Given the description of an element on the screen output the (x, y) to click on. 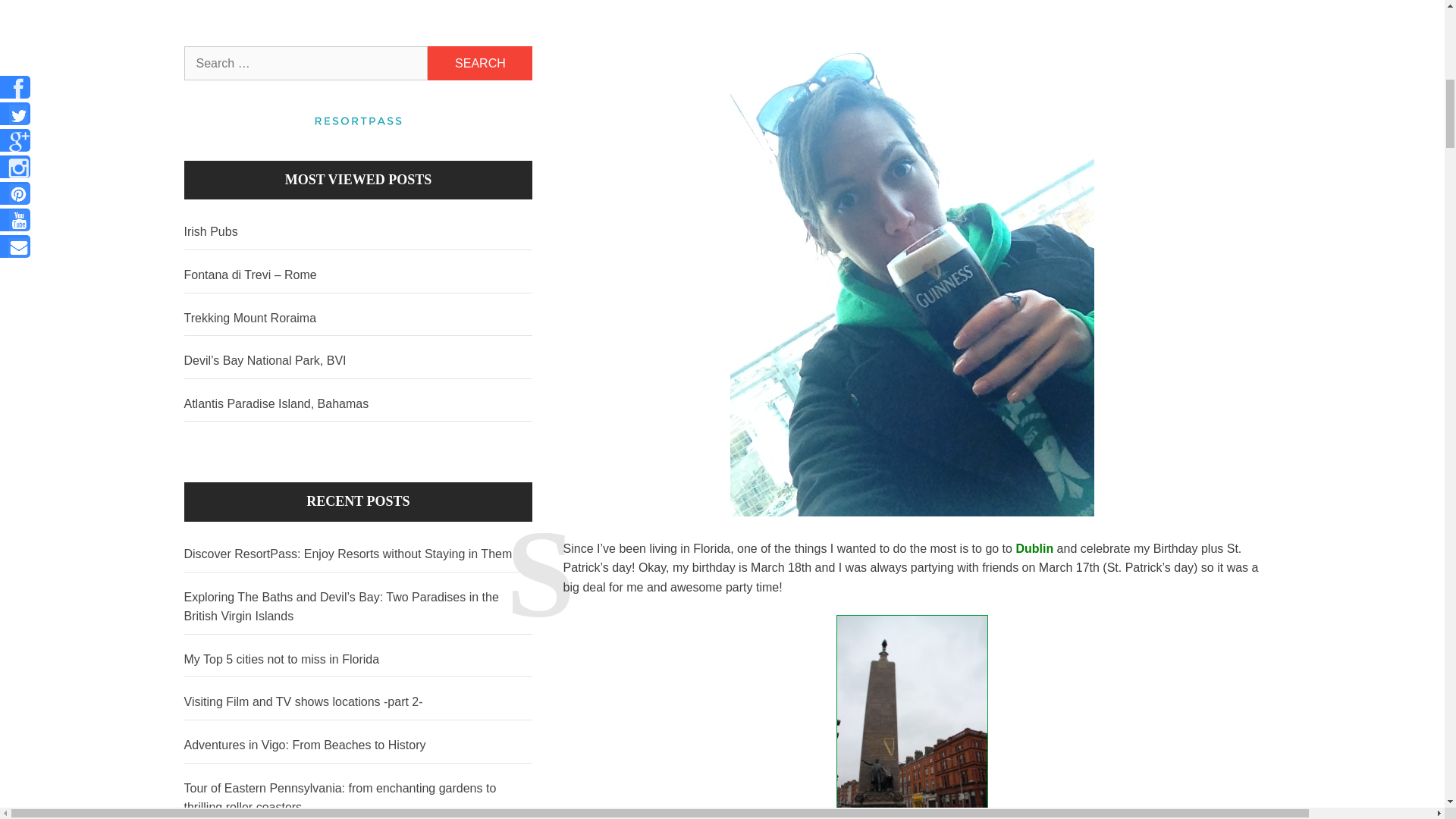
Search (480, 62)
Search (480, 62)
